Given the description of an element on the screen output the (x, y) to click on. 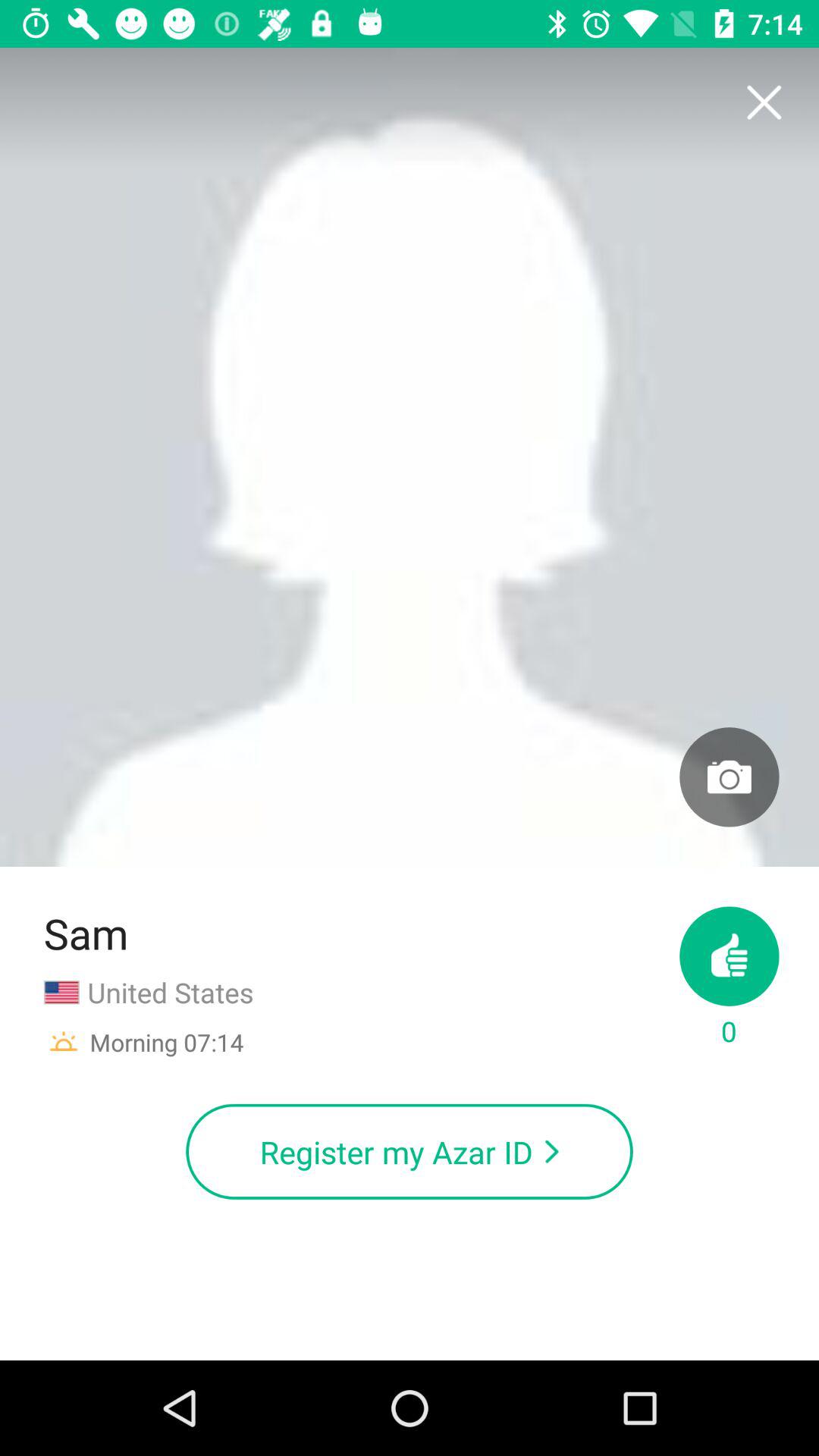
select item above 0 (729, 776)
